Given the description of an element on the screen output the (x, y) to click on. 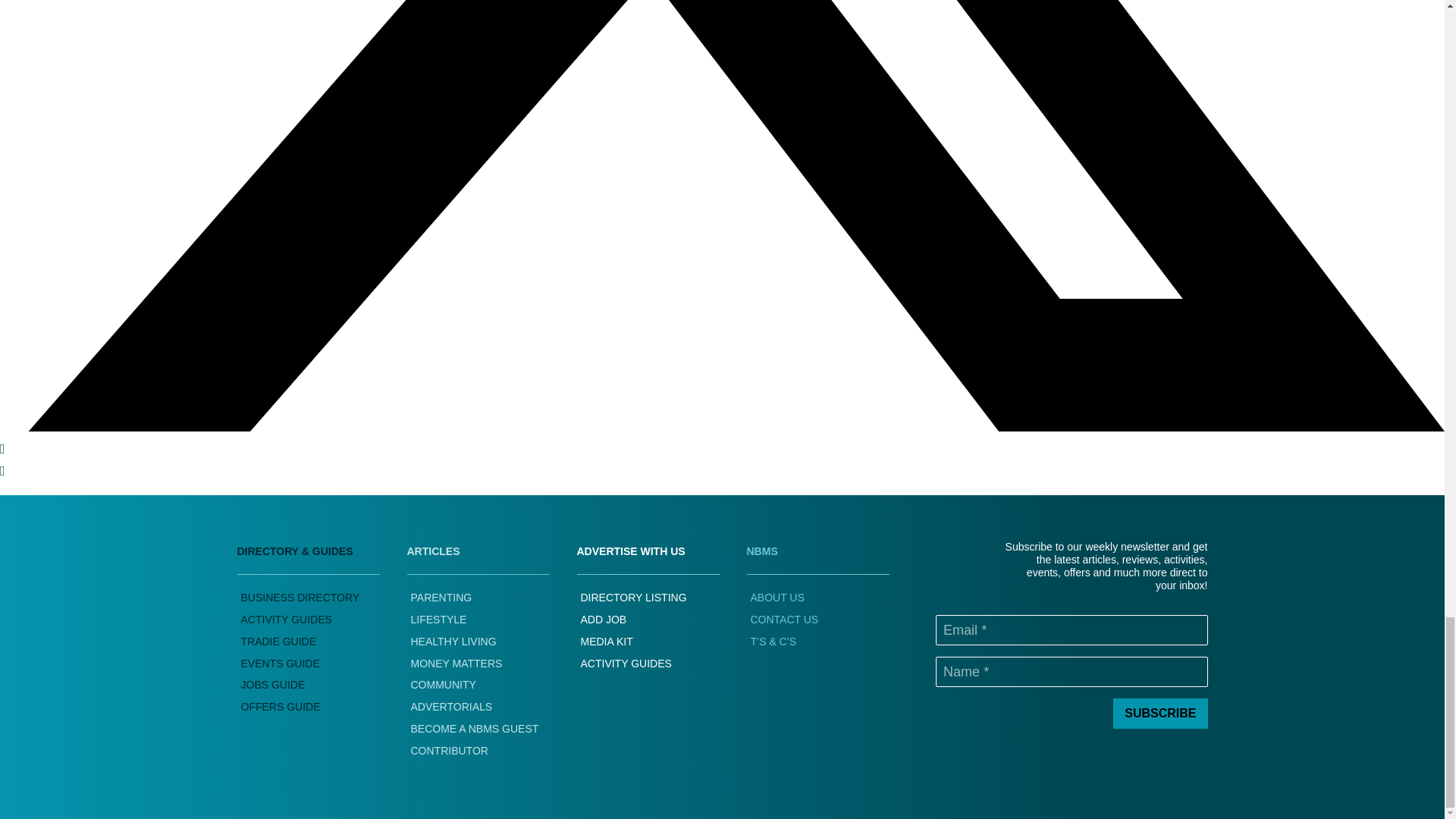
Email (2, 470)
Linkedin (2, 448)
Subscribe (1160, 713)
